Given the description of an element on the screen output the (x, y) to click on. 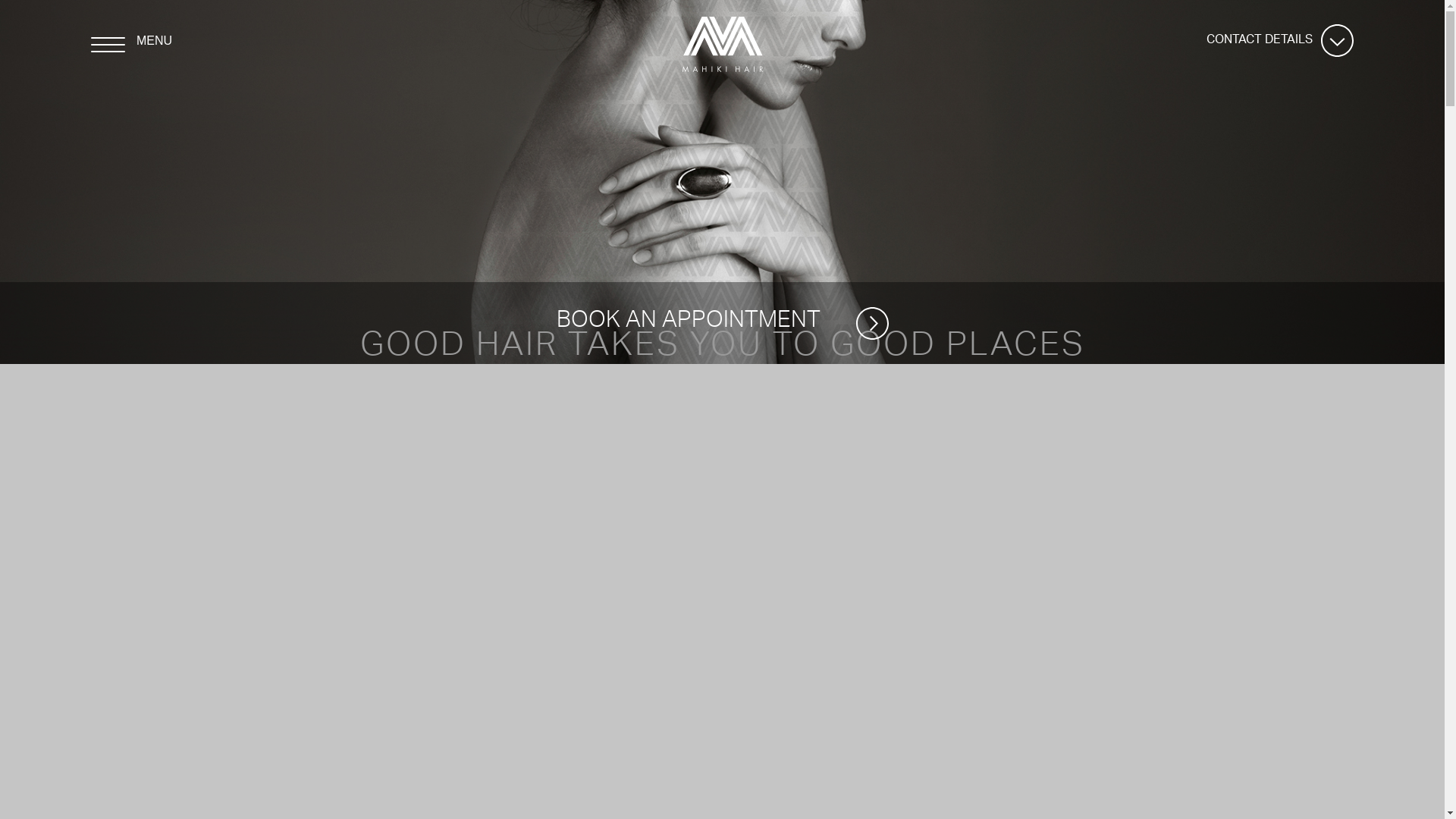
MENU Element type: text (132, 44)
CONTACT DETAILS Element type: text (1259, 40)
BOOK AN APPOINTMENT Element type: text (722, 323)
